Given the description of an element on the screen output the (x, y) to click on. 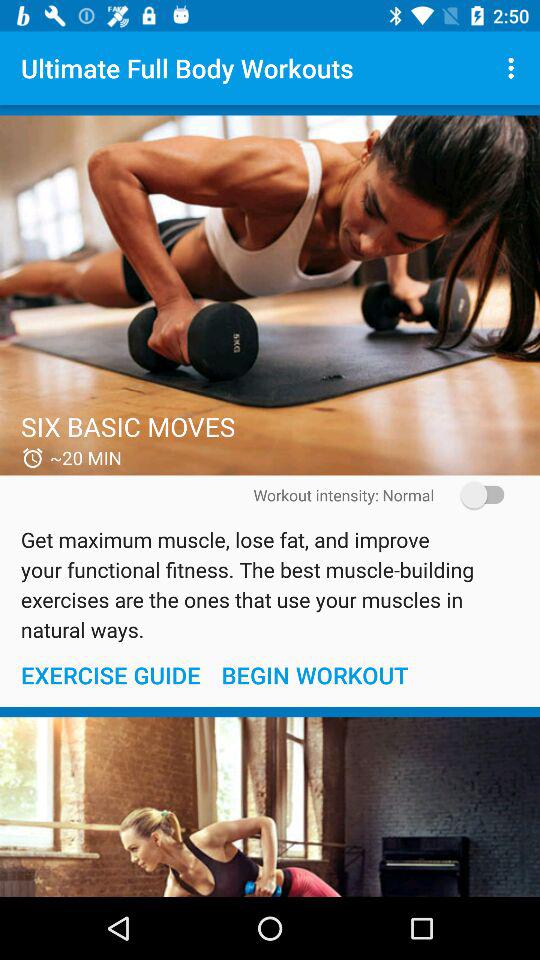
press the item at the top right corner (513, 67)
